Given the description of an element on the screen output the (x, y) to click on. 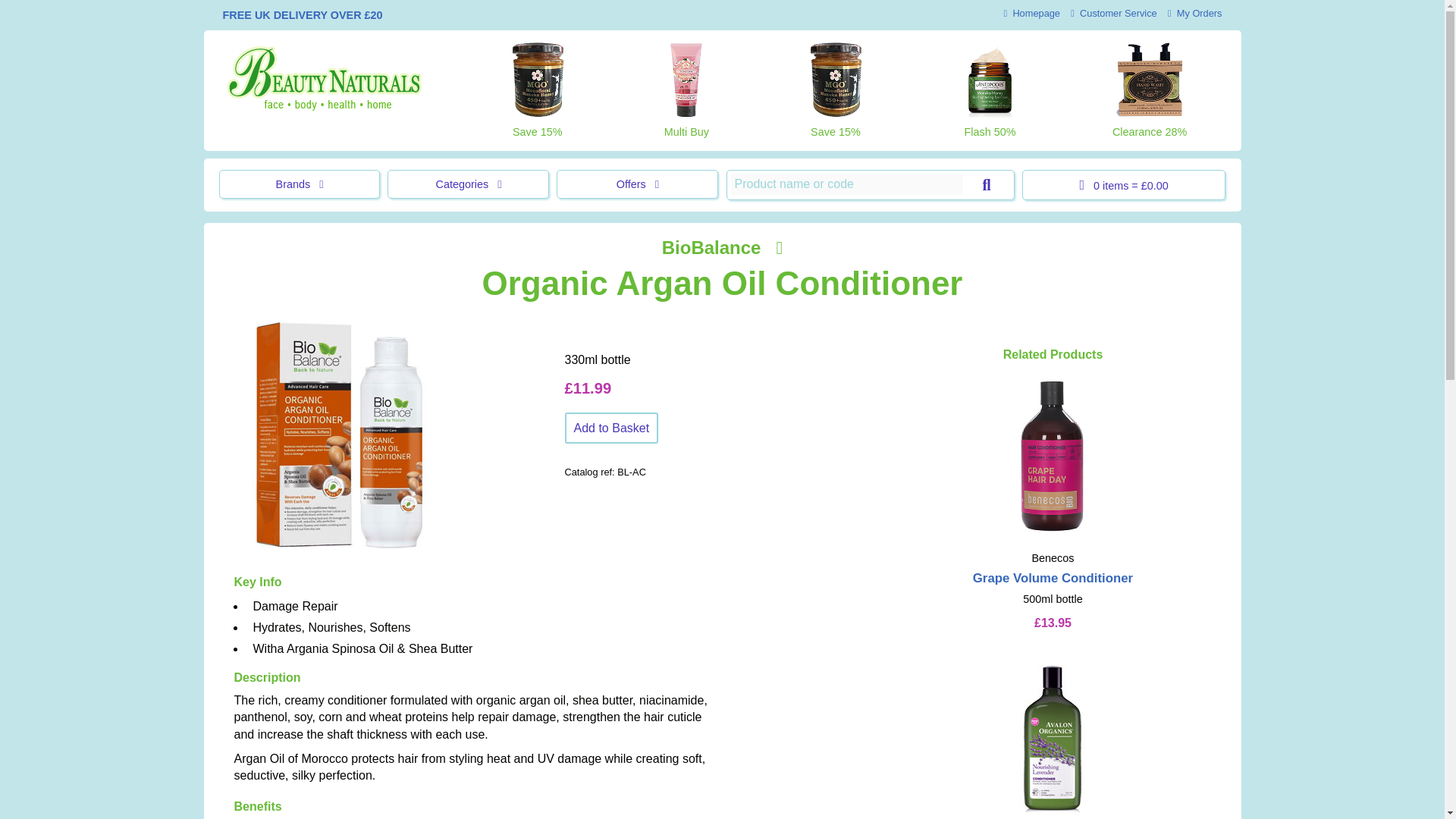
Multi Buy (686, 90)
BioBalance Organic Argan Oil Conditioner (338, 434)
Search (985, 184)
  Homepage (1031, 12)
Offers    (636, 184)
Categories    (467, 184)
Brands    (299, 184)
